Given the description of an element on the screen output the (x, y) to click on. 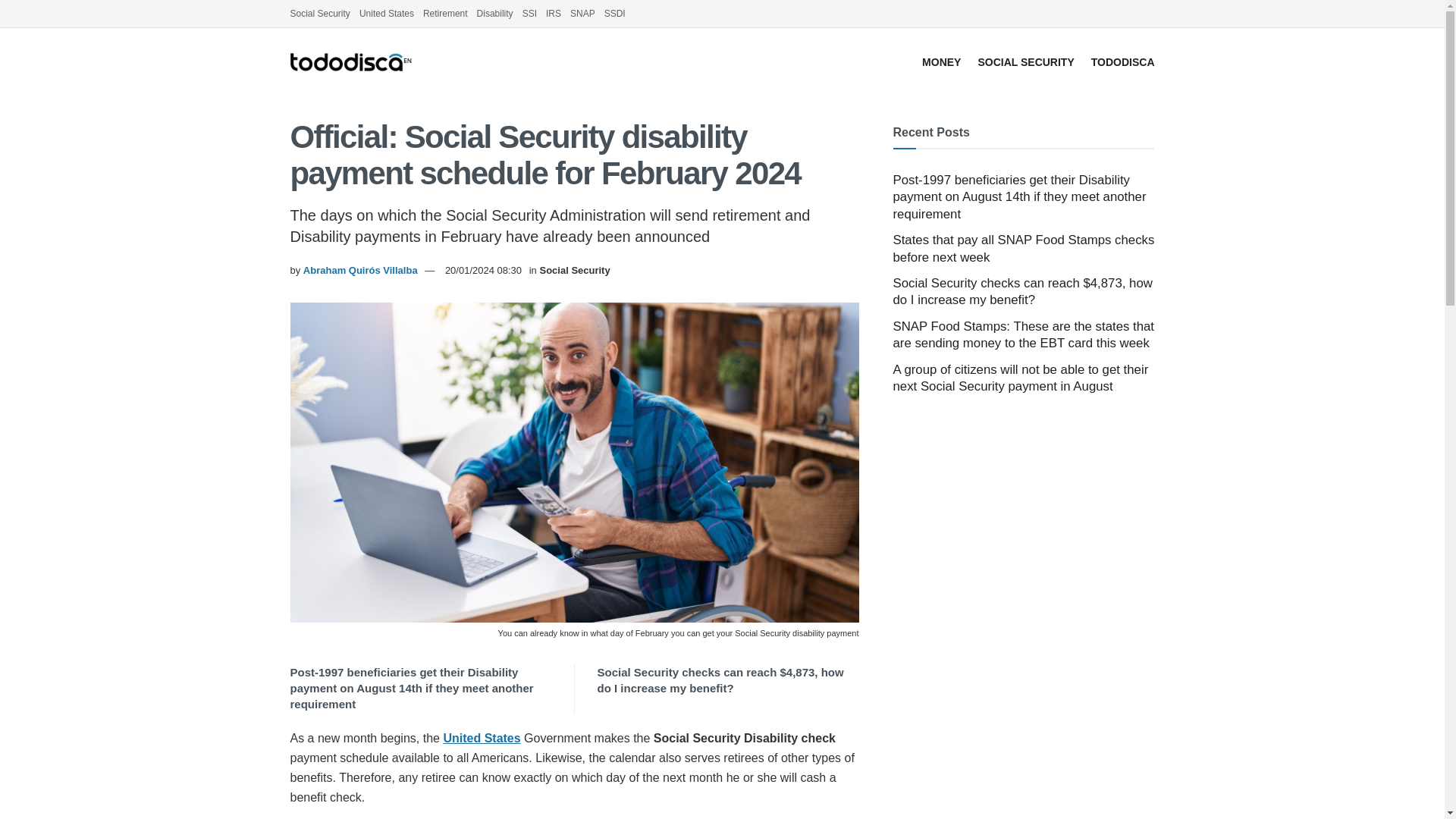
Social Security (574, 270)
TODODISCA (1122, 61)
United States (386, 13)
Disability (495, 13)
SNAP (582, 13)
MONEY (940, 61)
Social Security (319, 13)
SOCIAL SECURITY (1025, 61)
